Given the description of an element on the screen output the (x, y) to click on. 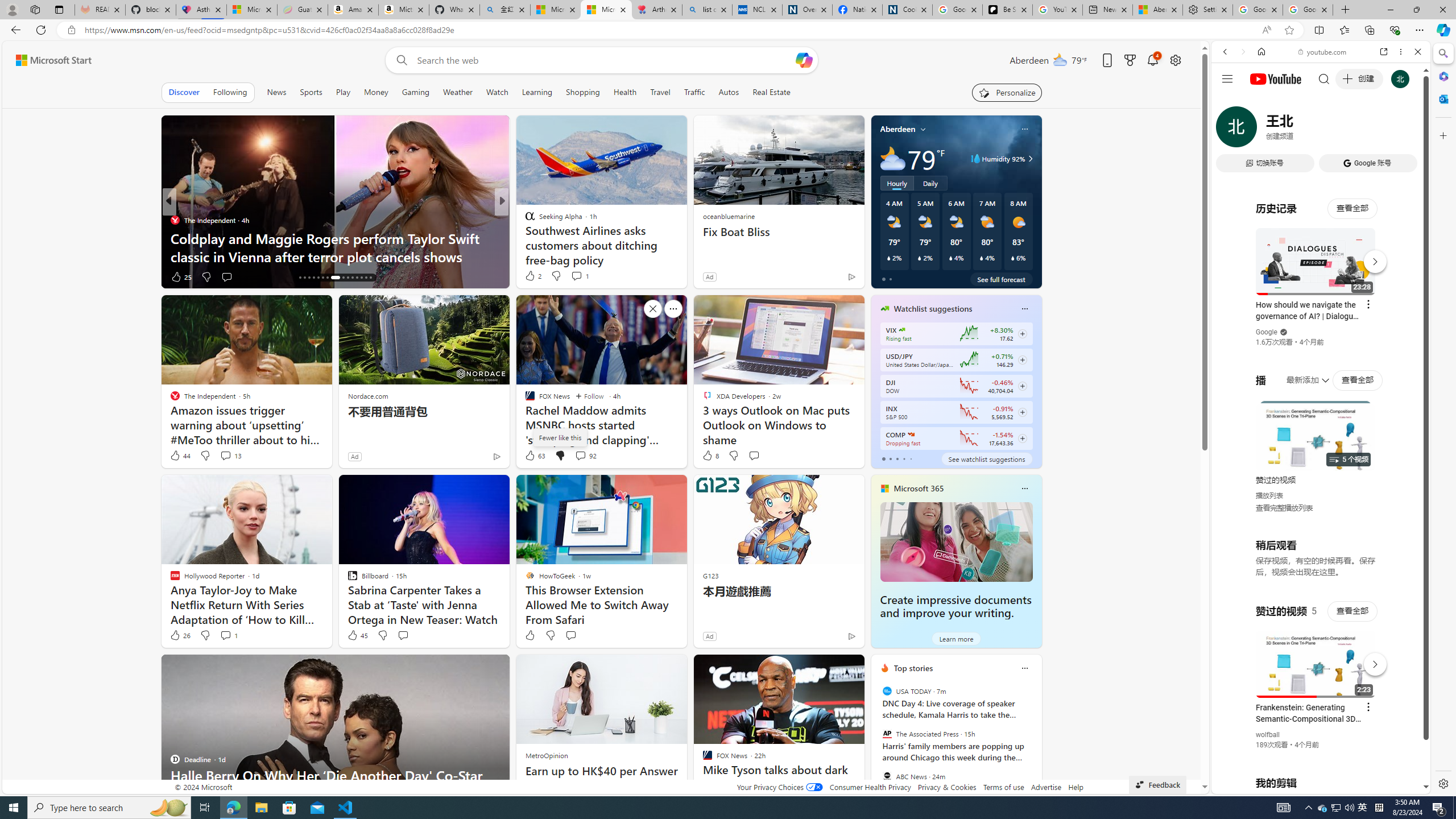
Aberdeen (897, 128)
Following (229, 92)
Ad (708, 636)
Web scope (1230, 102)
you (1315, 755)
View comments 20 Comment (580, 276)
News (276, 92)
44 Like (179, 455)
45 Like (357, 634)
Start the conversation (570, 635)
This site scope (1259, 102)
